Given the description of an element on the screen output the (x, y) to click on. 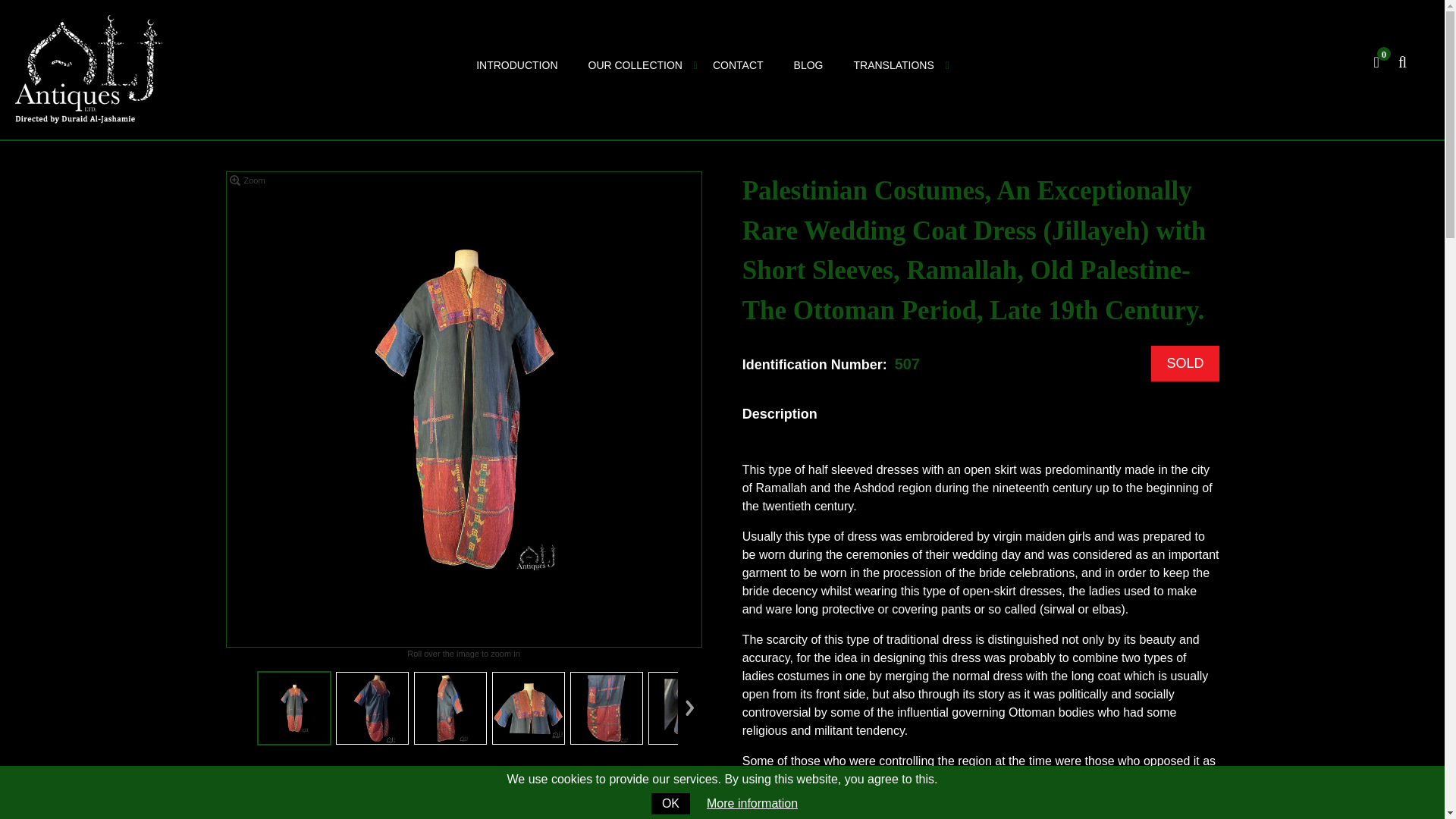
OUR COLLECTION (635, 65)
OK (670, 803)
INTRODUCTION (516, 66)
More information (751, 802)
